Given the description of an element on the screen output the (x, y) to click on. 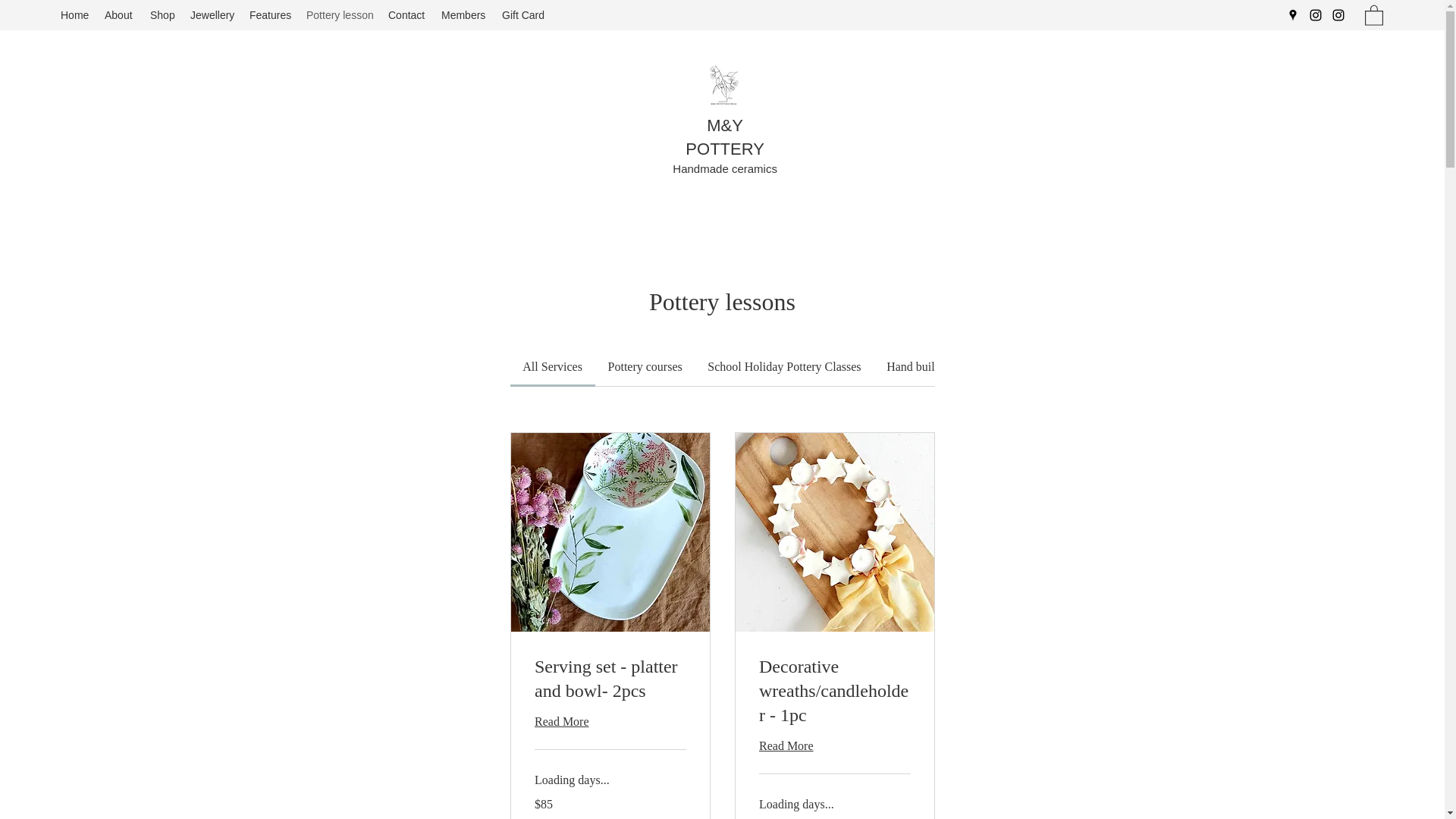
Contact (406, 15)
Serving set - platter and bowl- 2pcs (609, 679)
Members (464, 15)
Features (269, 15)
Home (74, 15)
Pottery lesson (339, 15)
Shop (162, 15)
Jewellery (212, 15)
Gift Card (524, 15)
Read More (609, 720)
